Given the description of an element on the screen output the (x, y) to click on. 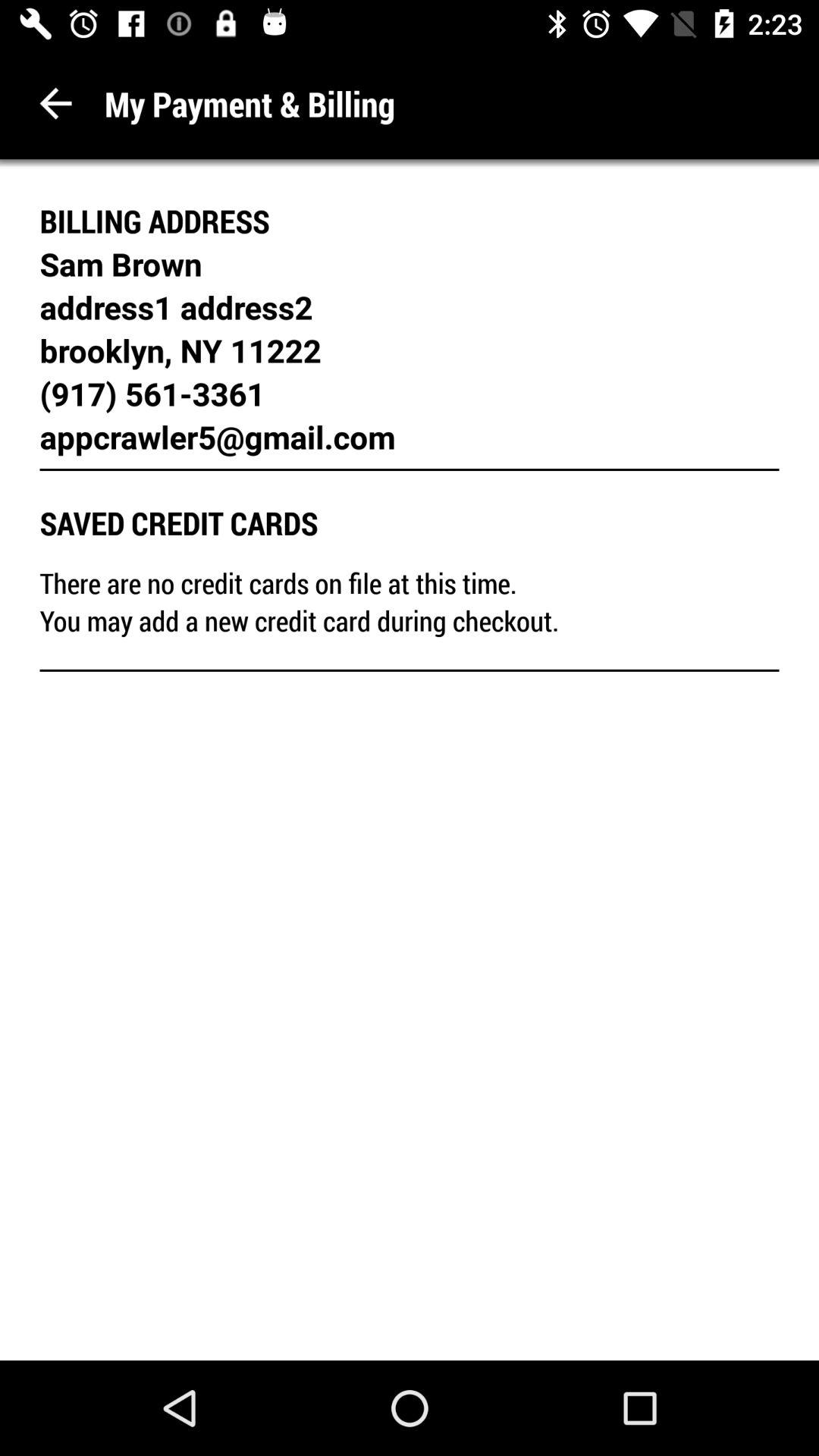
press icon next to my payment & billing (55, 103)
